Given the description of an element on the screen output the (x, y) to click on. 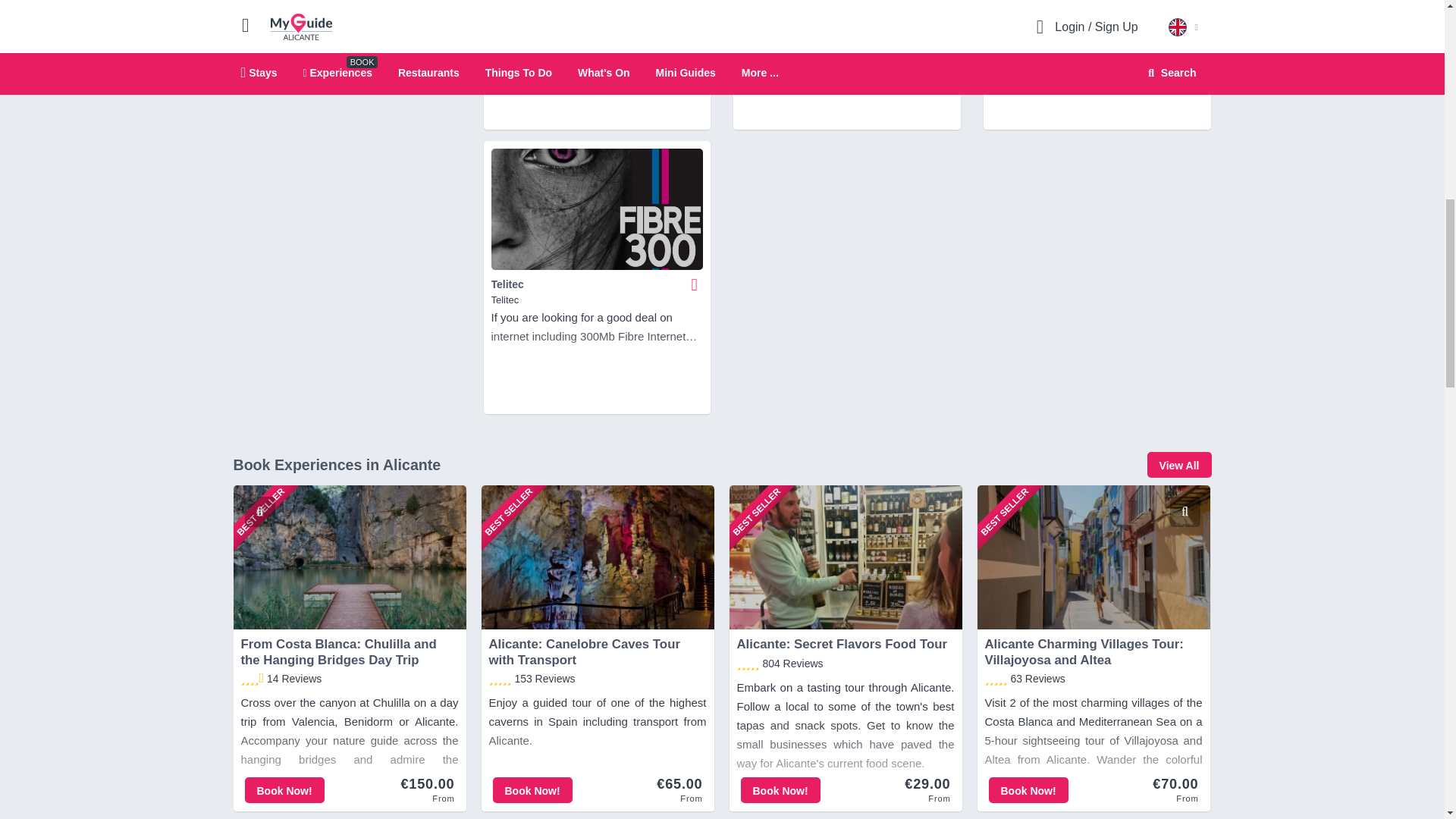
Add to My Guide (1195, 7)
Add to My Guide (694, 284)
Add to My Guide (694, 7)
Add to My Guide (944, 7)
